Given the description of an element on the screen output the (x, y) to click on. 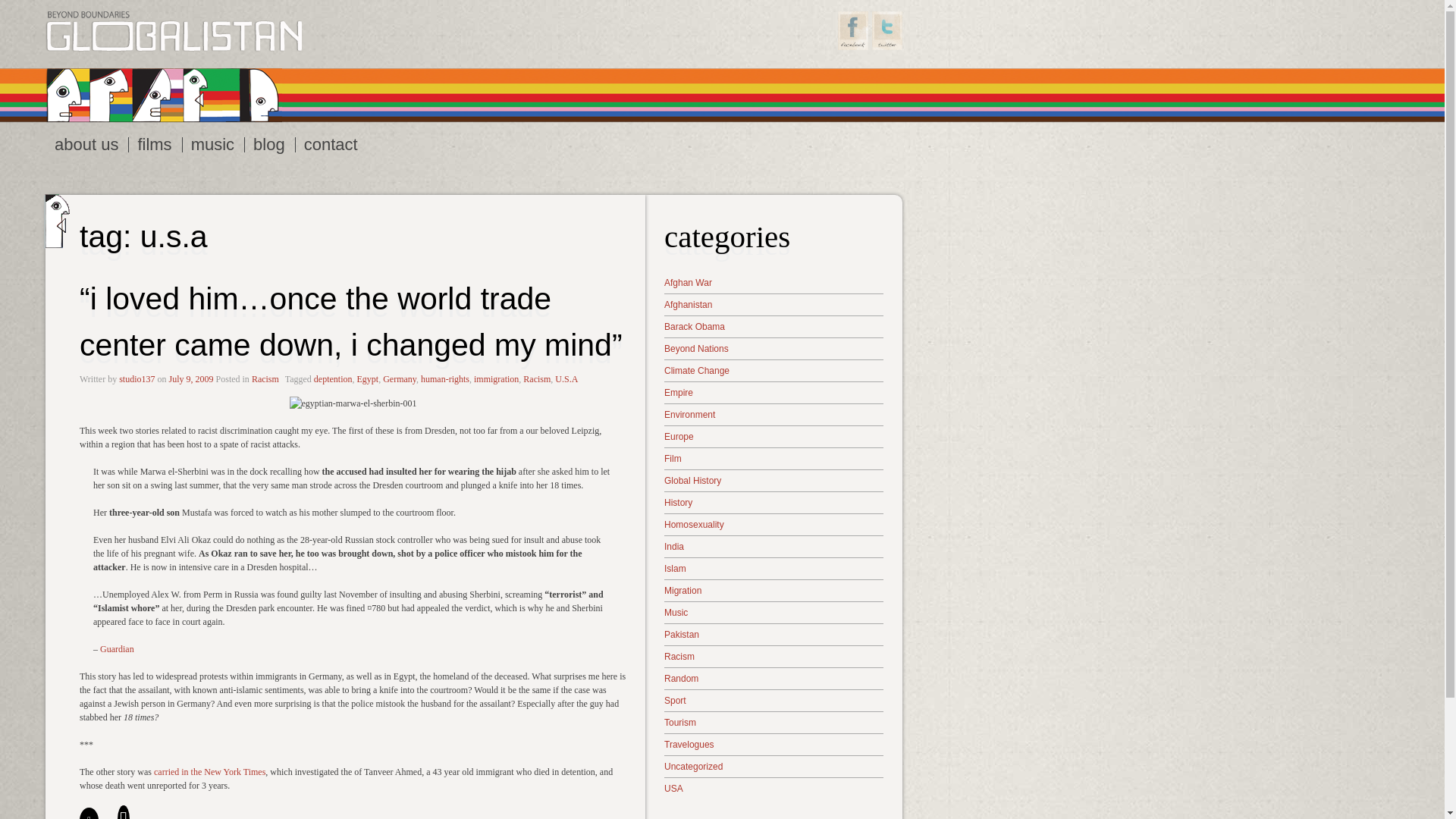
Racism (536, 378)
carried in the New York Times (209, 770)
Homosexuality (773, 523)
Europe (773, 436)
blog (269, 144)
Racism (265, 378)
Barack Obama (773, 326)
studio137 (136, 378)
Germany (399, 378)
Music (773, 612)
human-rights (444, 378)
Climate Change (773, 370)
India (773, 546)
films (154, 144)
egyptian-marwa-el-sherbin-001 (352, 402)
